Given the description of an element on the screen output the (x, y) to click on. 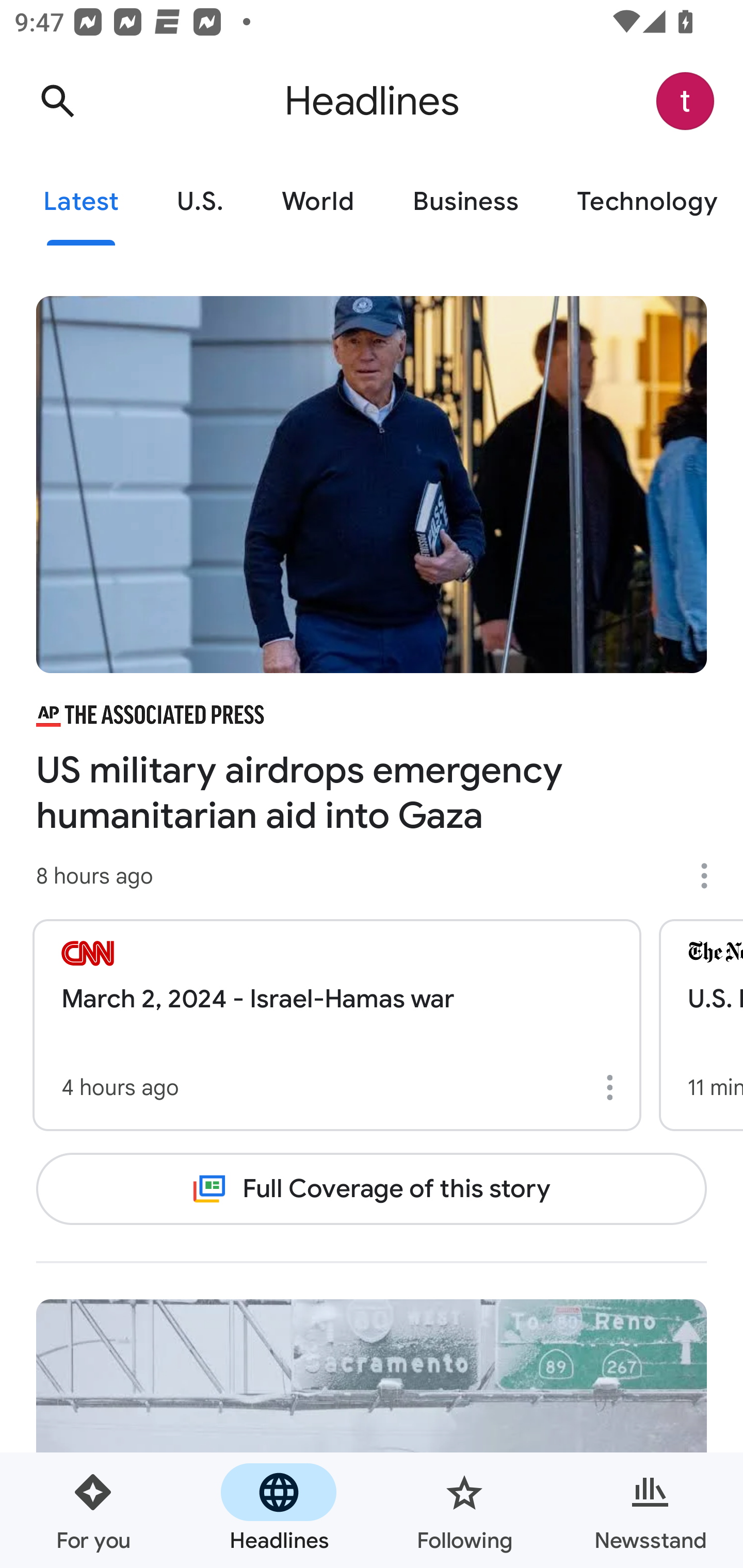
Search (57, 100)
U.S. (199, 202)
World (317, 202)
Business (465, 202)
Technology (645, 202)
More options (711, 875)
More options (613, 1086)
Full Coverage of this story (371, 1188)
For you (92, 1509)
Headlines (278, 1509)
Following (464, 1509)
Newsstand (650, 1509)
